Given the description of an element on the screen output the (x, y) to click on. 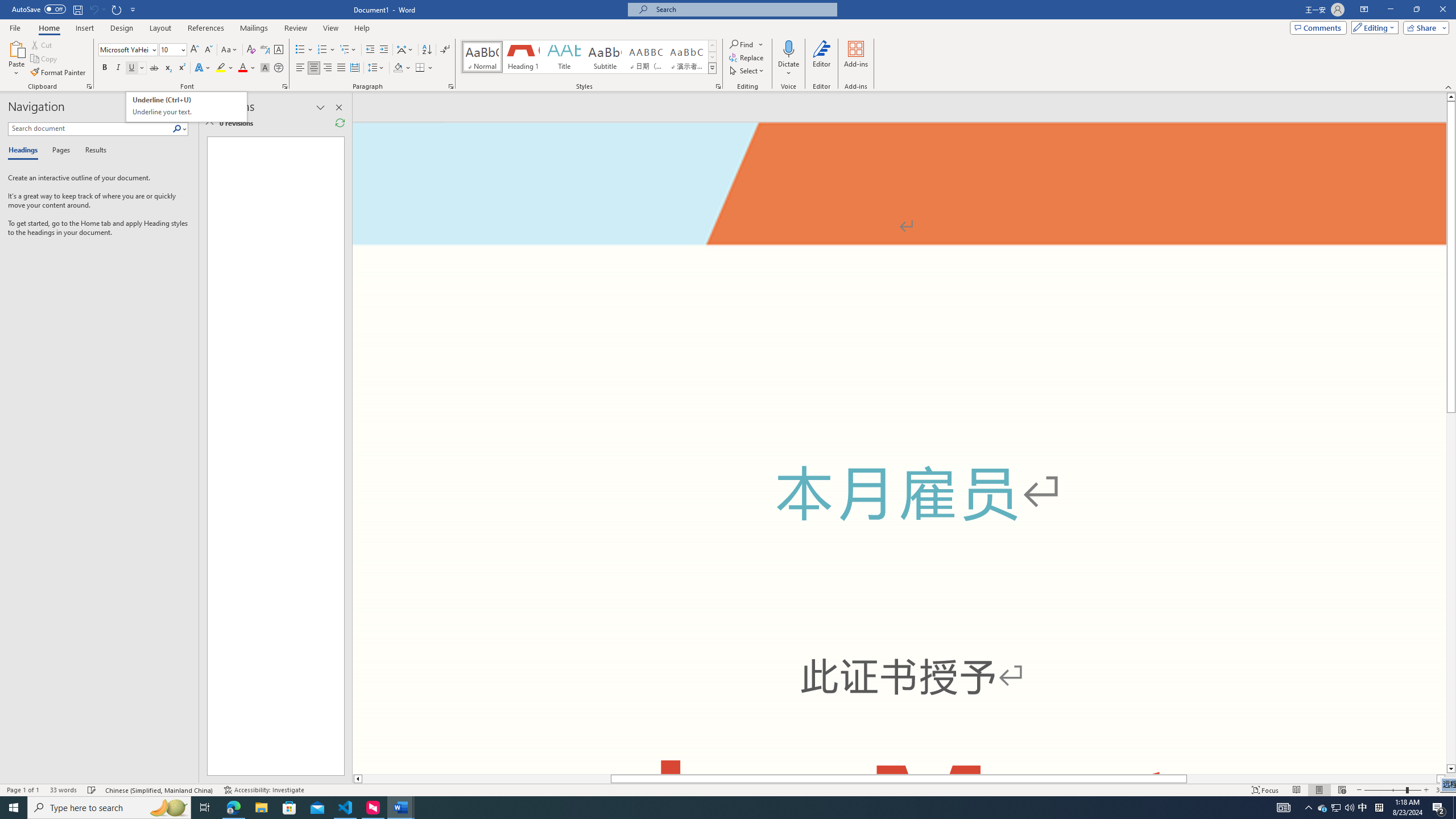
Column right (1441, 778)
Page left (486, 778)
